Given the description of an element on the screen output the (x, y) to click on. 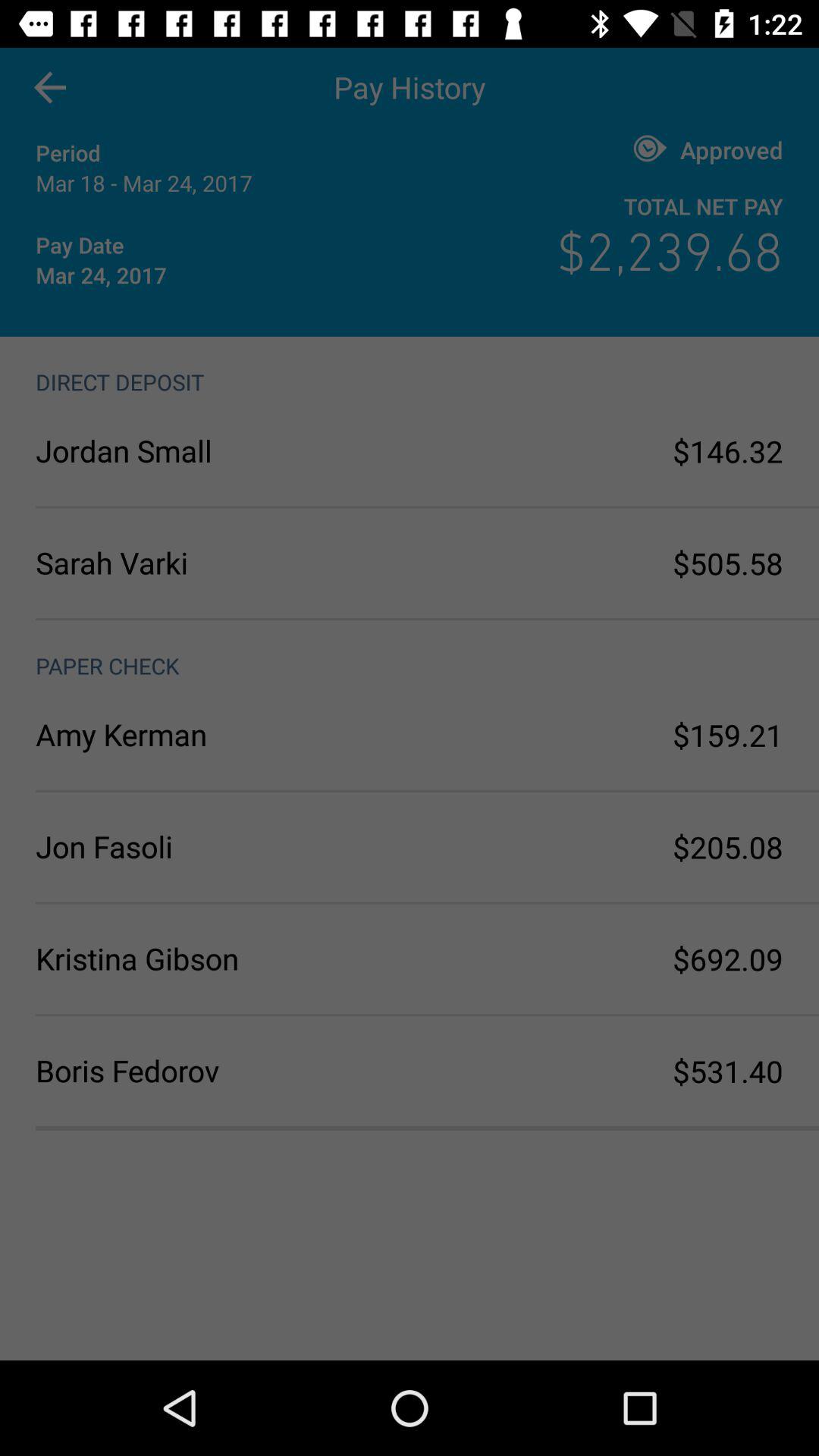
press item above paper check icon (222, 562)
